Given the description of an element on the screen output the (x, y) to click on. 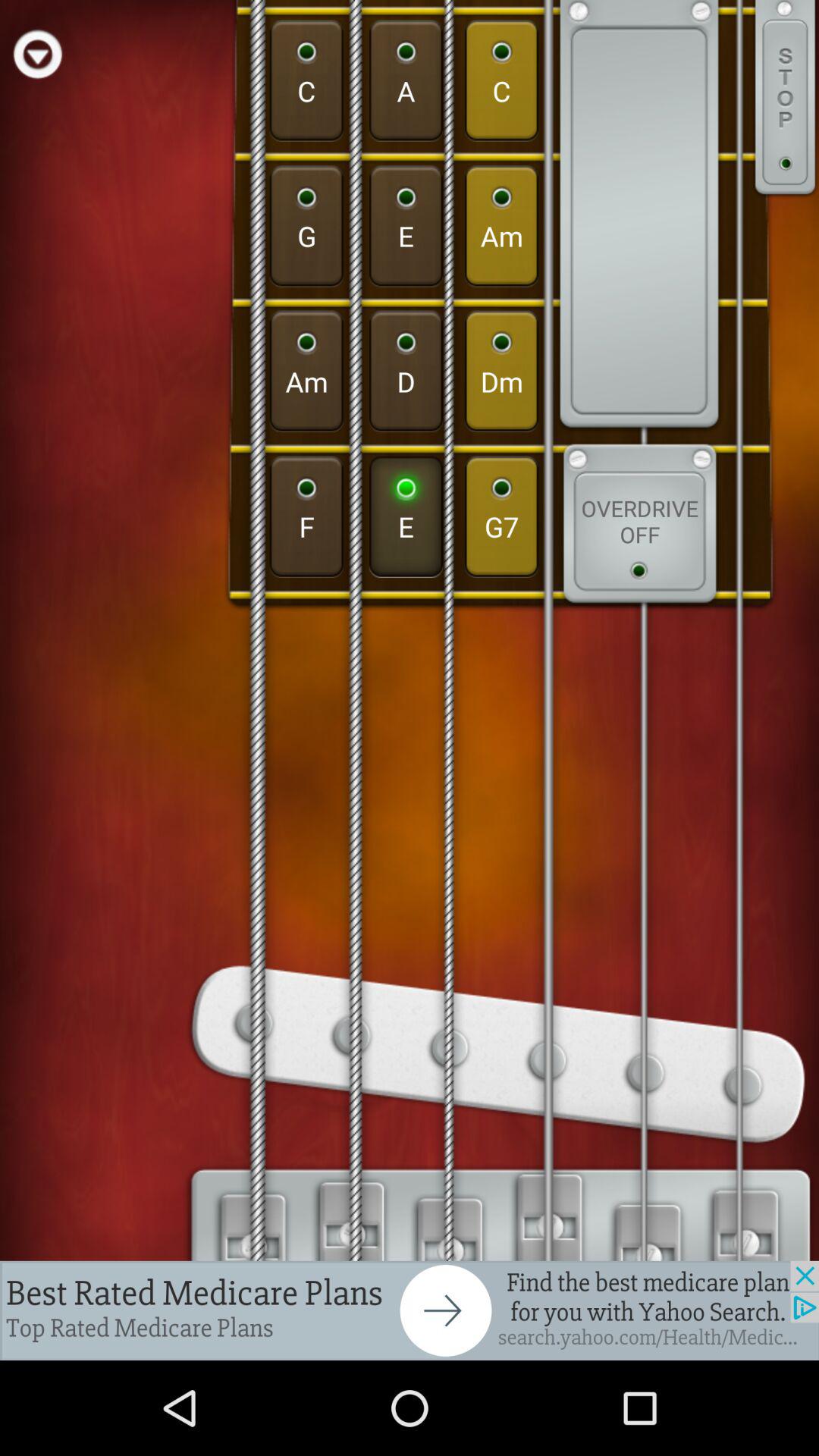
stop (785, 99)
